Given the description of an element on the screen output the (x, y) to click on. 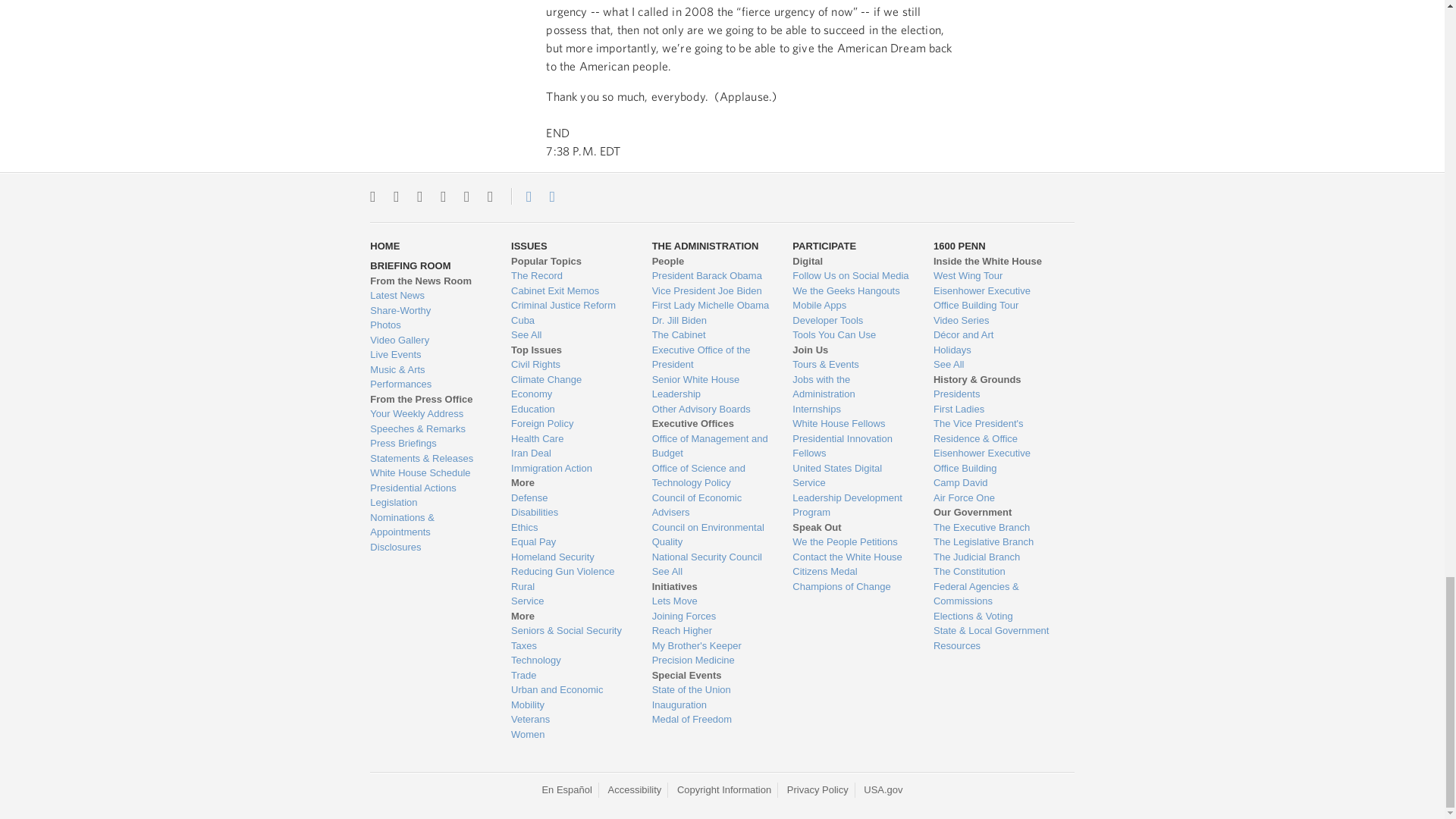
Check out the most popular infographics and videos (428, 310)
Email the Whitehouse. (552, 196)
View the photo of the day and other galleries (428, 324)
More ways to engage with the Whitehouse. (490, 196)
Visit The Whitehouse Channel on Youtube. (466, 196)
Read the latest blog posts from 1600 Pennsylvania Ave (428, 295)
Like the Whitehouse on Facebook. (419, 196)
Follow the Whitehouse on Twitter. (372, 196)
See the Whitehouse on Instagram. (395, 196)
Watch behind-the-scenes videos and more (428, 340)
Contact the Whitehouse. (521, 196)
